Given the description of an element on the screen output the (x, y) to click on. 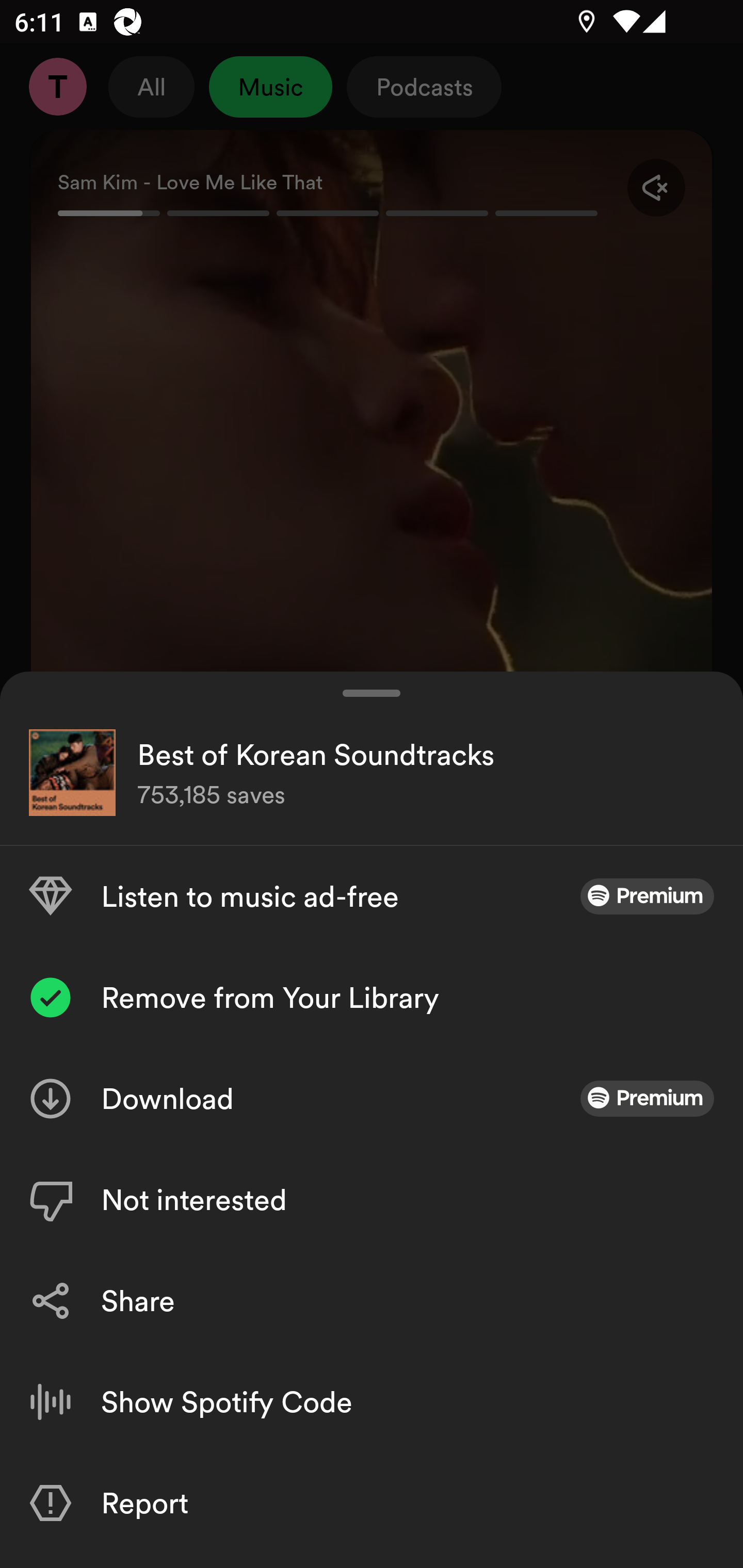
Listen to music ad-free (371, 896)
Remove from Your Library (371, 997)
Download (371, 1098)
Not interested (371, 1199)
Share (371, 1300)
Show Spotify Code (371, 1401)
Report (371, 1502)
